Given the description of an element on the screen output the (x, y) to click on. 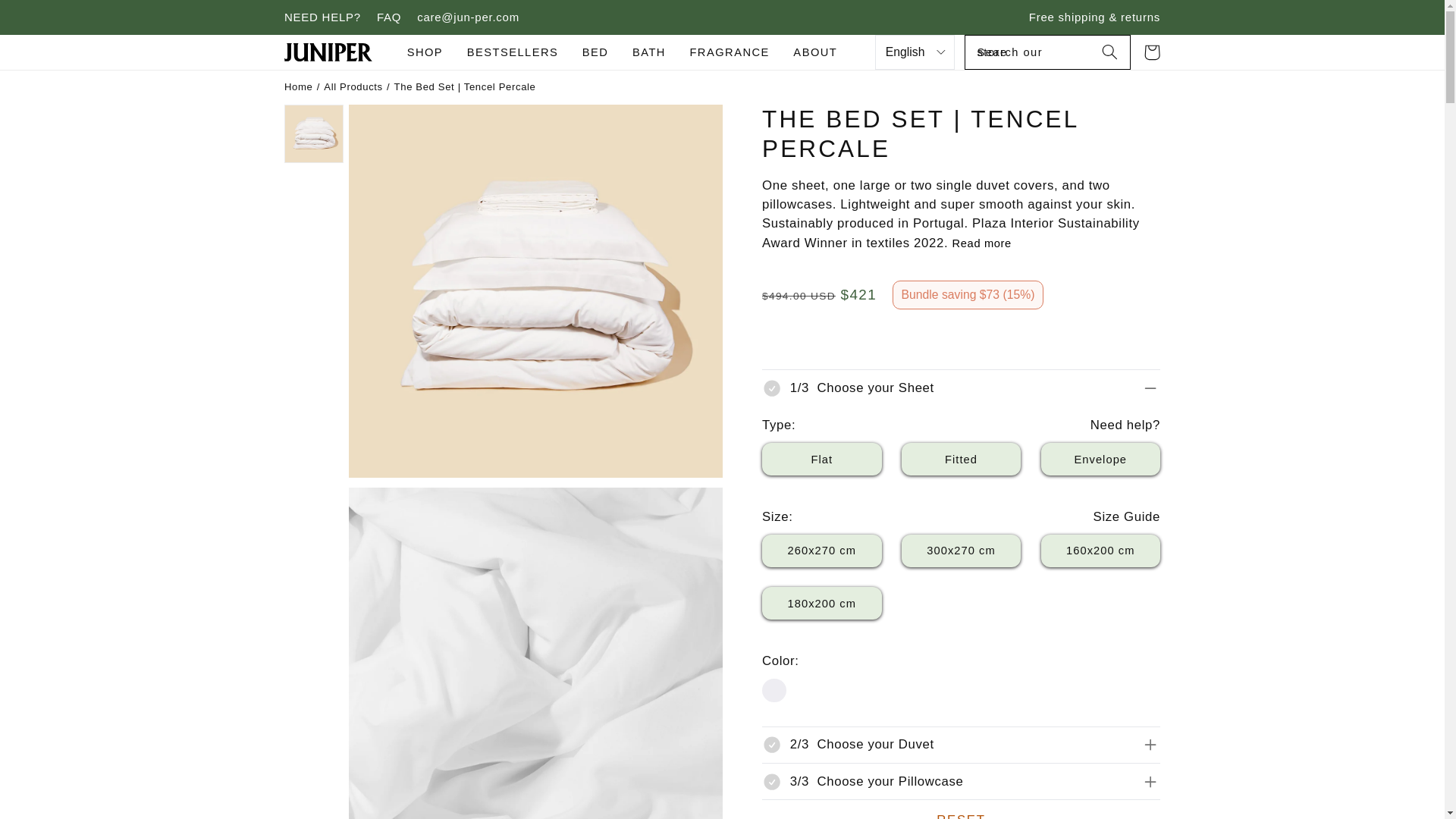
Envelope (1100, 459)
260x270 cm (821, 550)
BESTSELLERS (512, 52)
180x200 cm (821, 603)
300x270 cm (961, 550)
SKIP TO CONTENT (47, 17)
FAQ (389, 16)
FRAGRANCE (729, 52)
160x200 cm (1100, 550)
Fitted (961, 459)
